Given the description of an element on the screen output the (x, y) to click on. 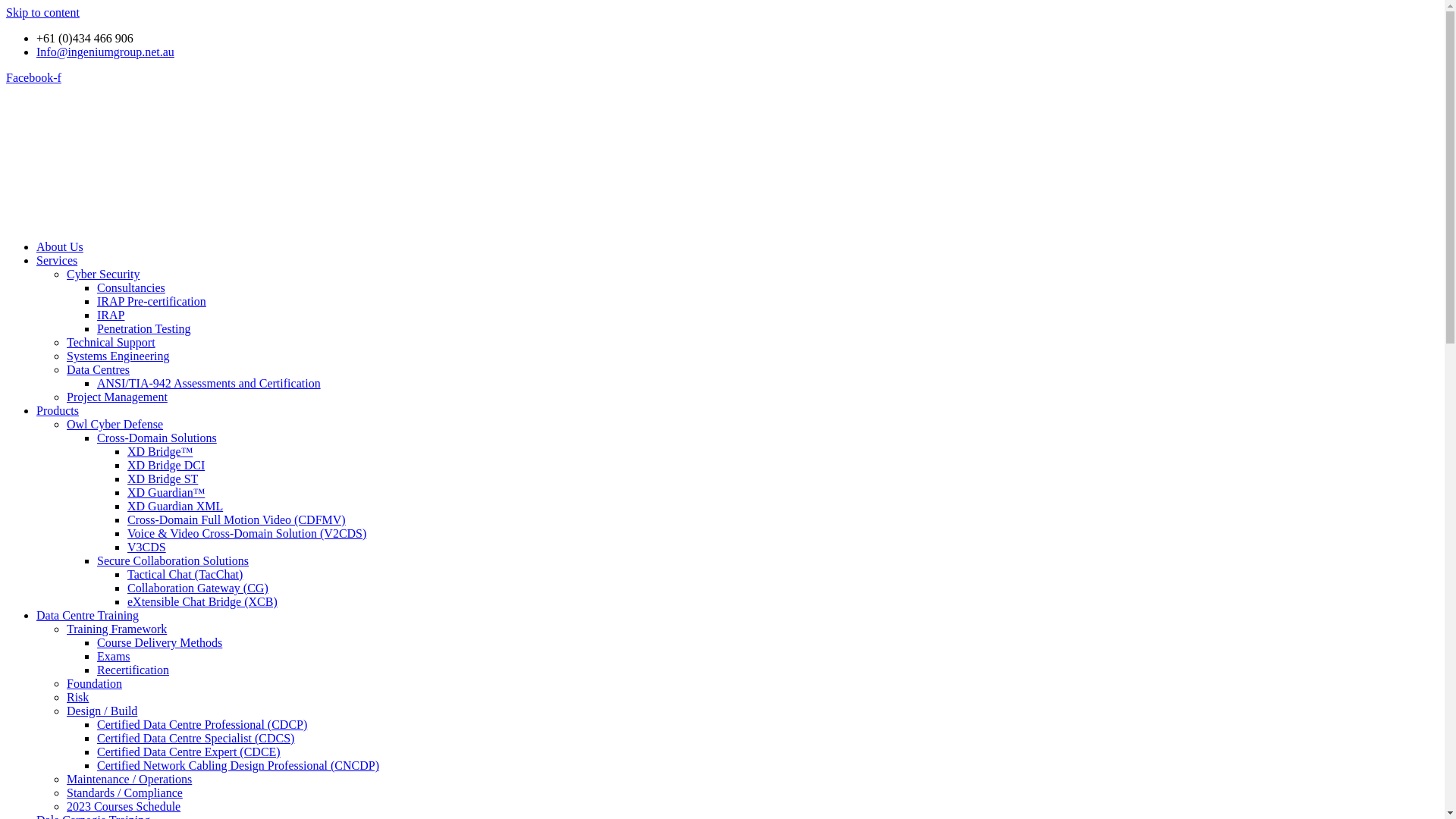
Cross-Domain Full Motion Video (CDFMV) Element type: text (236, 519)
Technical Support Element type: text (110, 341)
Cross-Domain Solutions Element type: text (156, 437)
2023 Courses Schedule Element type: text (123, 806)
Products Element type: text (57, 410)
Voice & Video Cross-Domain Solution (V2CDS) Element type: text (246, 533)
Systems Engineering Element type: text (117, 355)
Certified Data Centre Professional (CDCP) Element type: text (202, 724)
ANSI/TIA-942 Assessments and Certification Element type: text (208, 382)
Data Centre Training Element type: text (87, 614)
Risk Element type: text (77, 696)
Certified Data Centre Specialist (CDCS) Element type: text (195, 737)
Certified Data Centre Expert (CDCE) Element type: text (188, 751)
Recertification Element type: text (133, 669)
Data Centres Element type: text (97, 369)
Consultancies Element type: text (131, 287)
Design / Build Element type: text (101, 710)
Info@ingeniumgroup.net.au Element type: text (105, 51)
V3CDS Element type: text (146, 546)
Owl Cyber Defense Element type: text (114, 423)
XD Guardian XML Element type: text (174, 505)
Facebook-f Element type: text (33, 77)
Project Management Element type: text (116, 396)
Services Element type: text (56, 260)
Maintenance / Operations Element type: text (128, 778)
Cyber Security Element type: text (102, 273)
IRAP Element type: text (110, 314)
Certified Network Cabling Design Professional (CNCDP) Element type: text (238, 765)
Exams Element type: text (113, 655)
Collaboration Gateway (CG) Element type: text (197, 587)
XD Bridge ST Element type: text (162, 478)
Standards / Compliance Element type: text (124, 792)
XD Bridge DCI Element type: text (165, 464)
IRAP Pre-certification Element type: text (151, 300)
Secure Collaboration Solutions Element type: text (172, 560)
Skip to content Element type: text (42, 12)
eXtensible Chat Bridge (XCB) Element type: text (202, 601)
Foundation Element type: text (94, 683)
Tactical Chat (TacChat) Element type: text (184, 573)
Course Delivery Methods Element type: text (159, 642)
Training Framework Element type: text (116, 628)
Penetration Testing Element type: text (143, 328)
About Us Element type: text (59, 246)
